Given the description of an element on the screen output the (x, y) to click on. 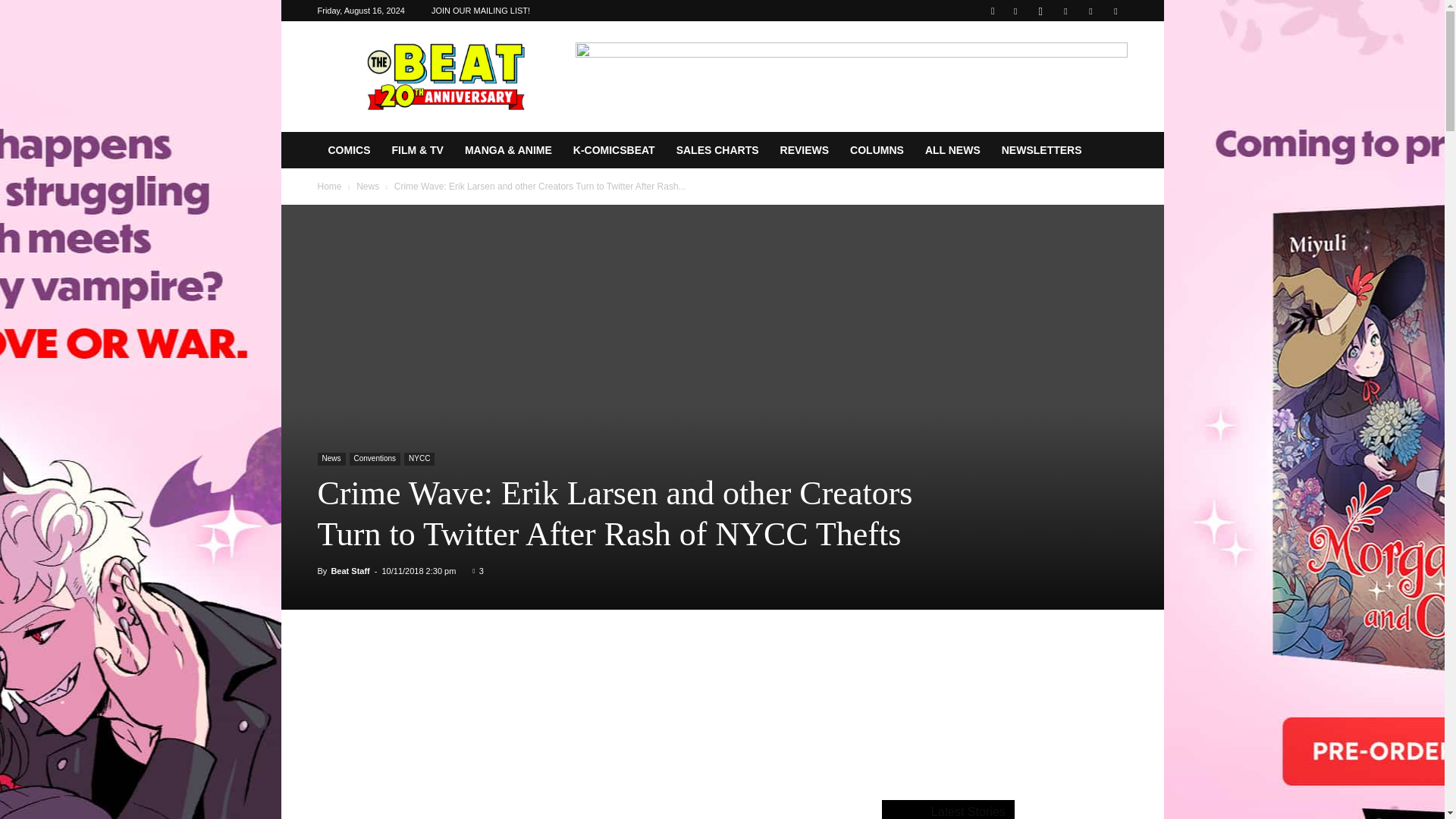
Twitter (1090, 10)
COMICS (348, 149)
SALES CHARTS (717, 149)
K-COMICSBEAT (613, 149)
RSS (1065, 10)
Search (1085, 64)
JOIN OUR MAILING LIST! (479, 10)
ALL NEWS (952, 149)
View all posts in News (367, 185)
Instagram (1040, 10)
